Given the description of an element on the screen output the (x, y) to click on. 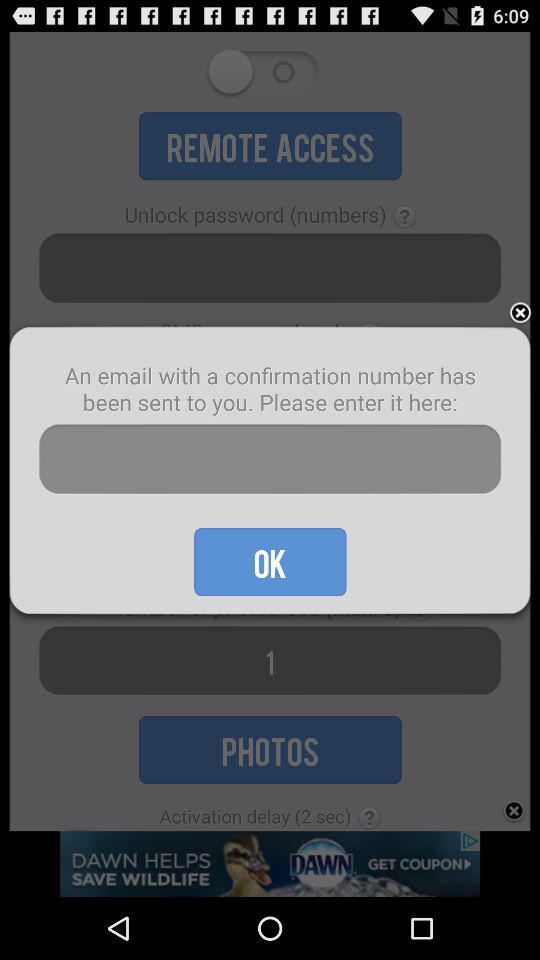
delete (520, 313)
